Given the description of an element on the screen output the (x, y) to click on. 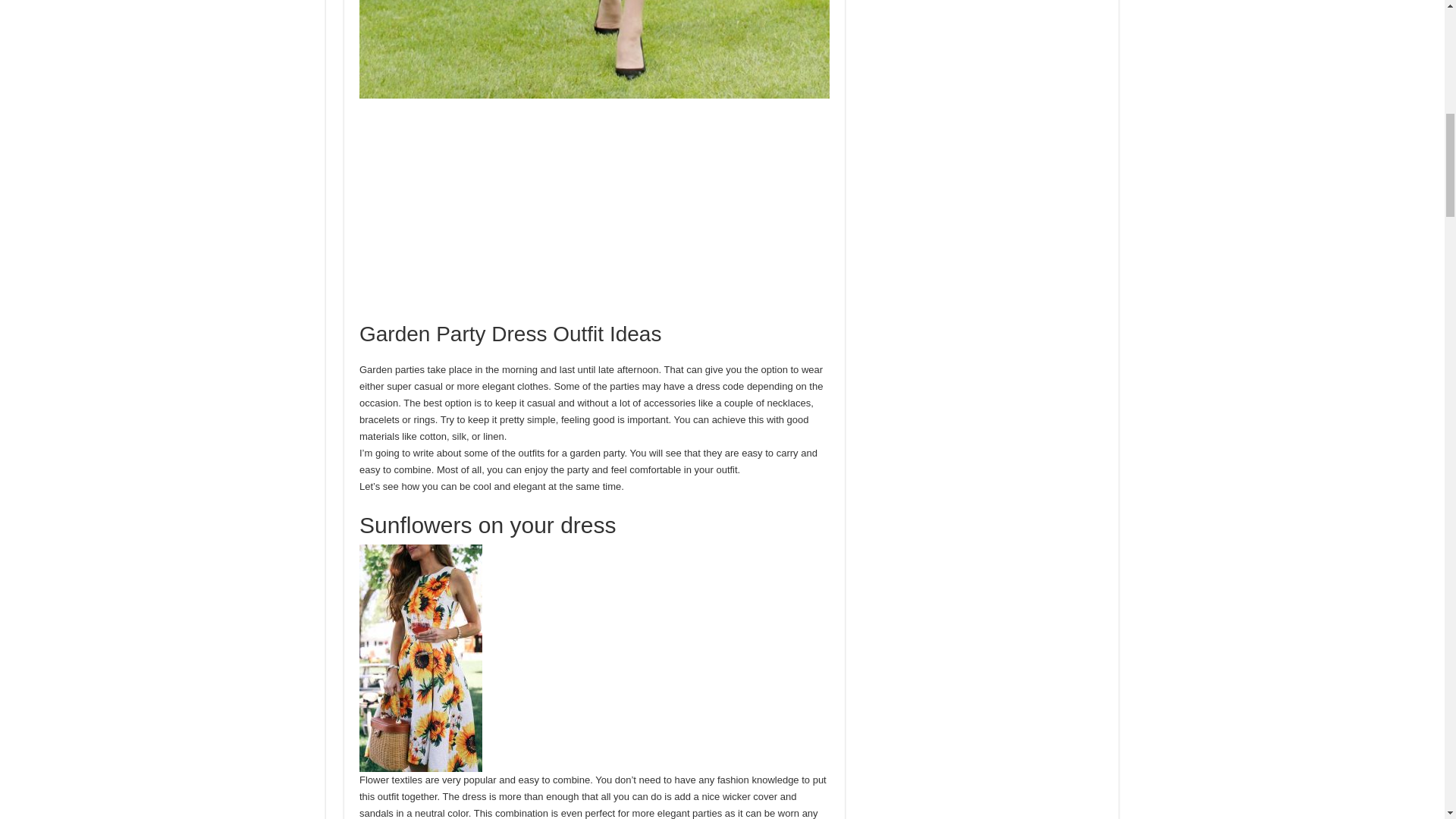
Garden Party Dress Outfit Ideas (594, 49)
